Given the description of an element on the screen output the (x, y) to click on. 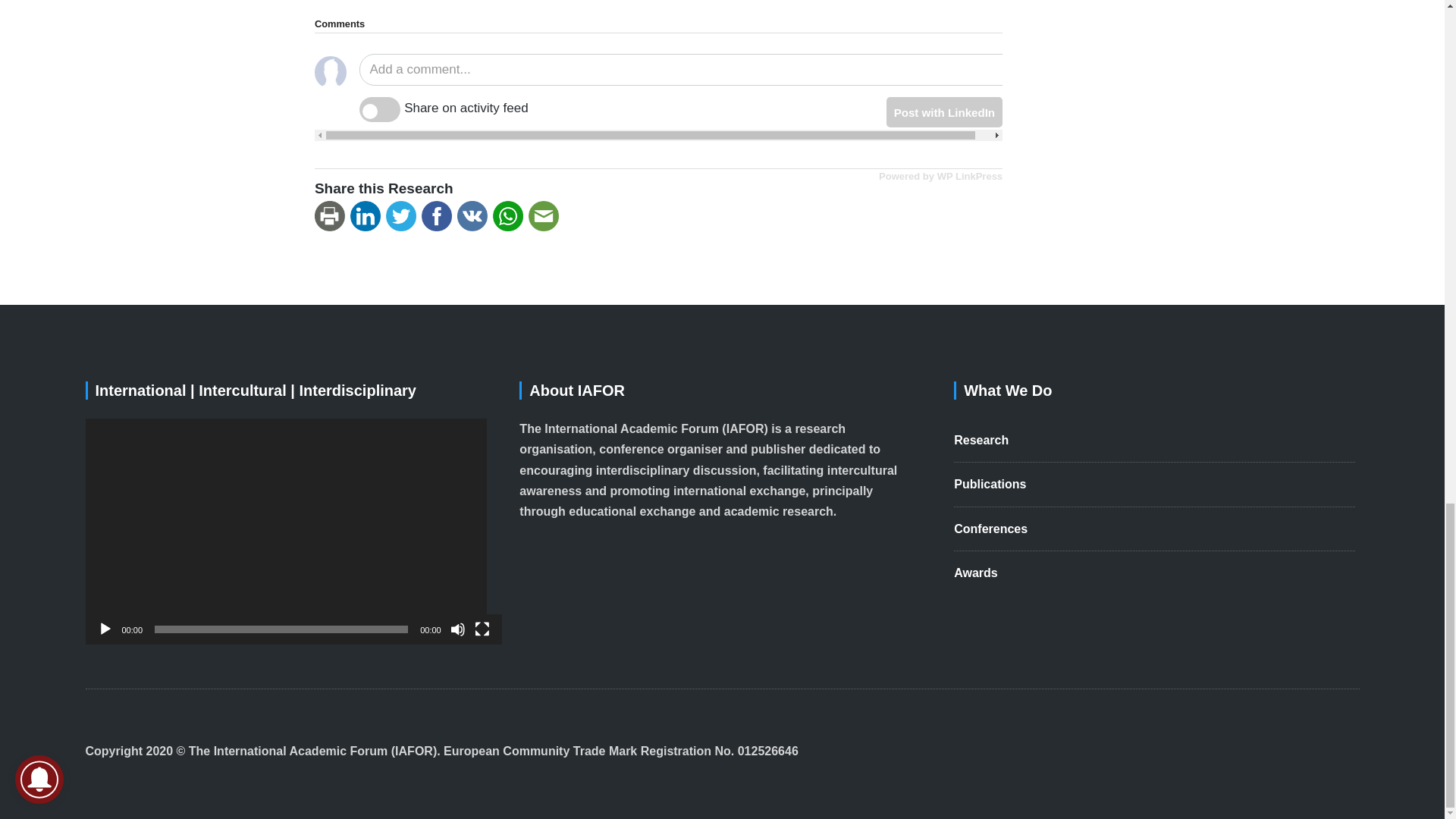
vk (475, 216)
print (332, 216)
Play (104, 629)
facebook (439, 216)
email (546, 216)
linkedin (367, 216)
whatsapp (510, 216)
twitter (403, 216)
